Given the description of an element on the screen output the (x, y) to click on. 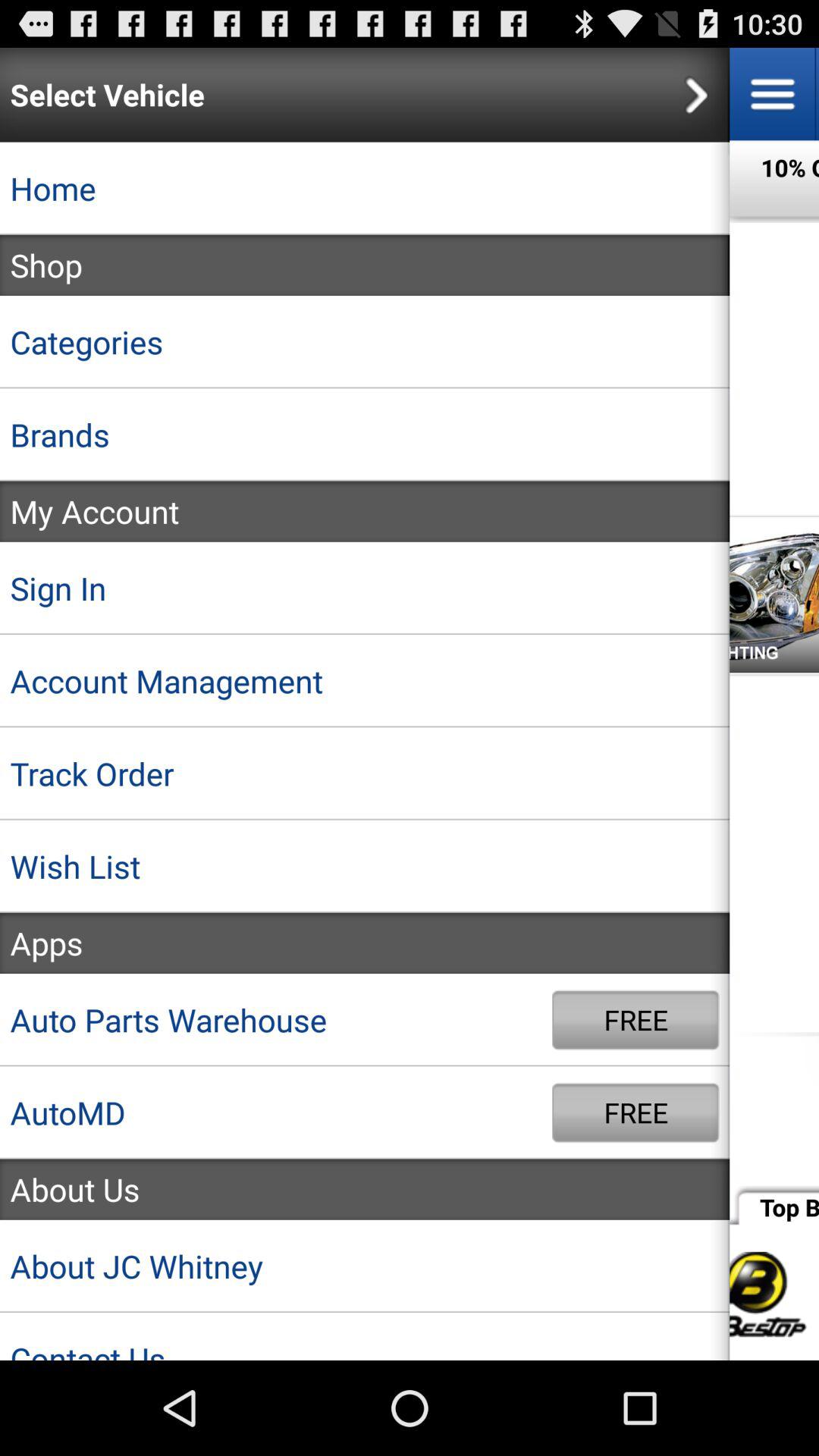
tap the icon next to the free icon (276, 1019)
